Given the description of an element on the screen output the (x, y) to click on. 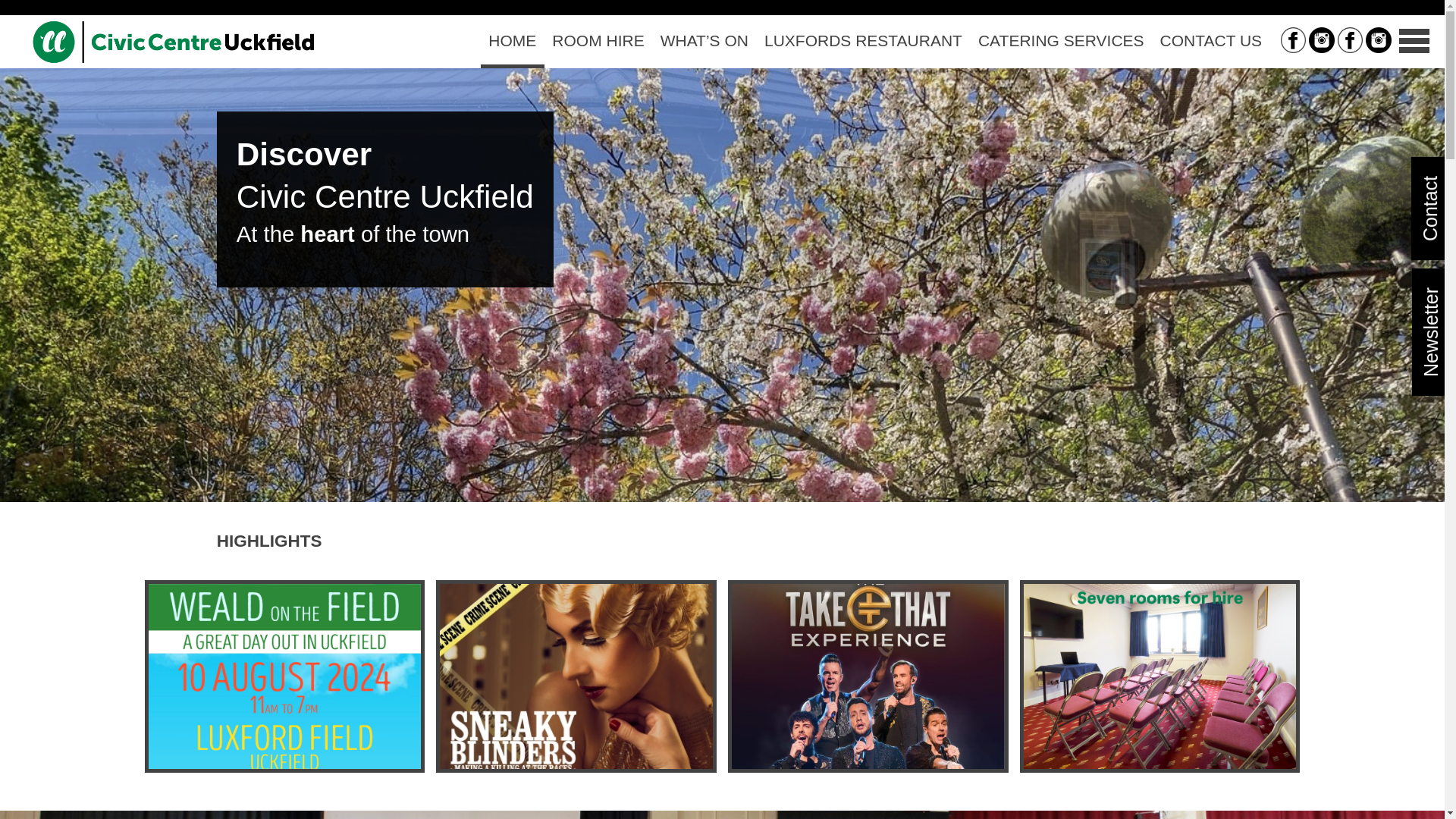
HOME (512, 41)
CONTACT US (1210, 41)
ROOM HIRE (598, 41)
CATERING SERVICES (1060, 41)
LUXFORDS RESTAURANT (862, 41)
